Given the description of an element on the screen output the (x, y) to click on. 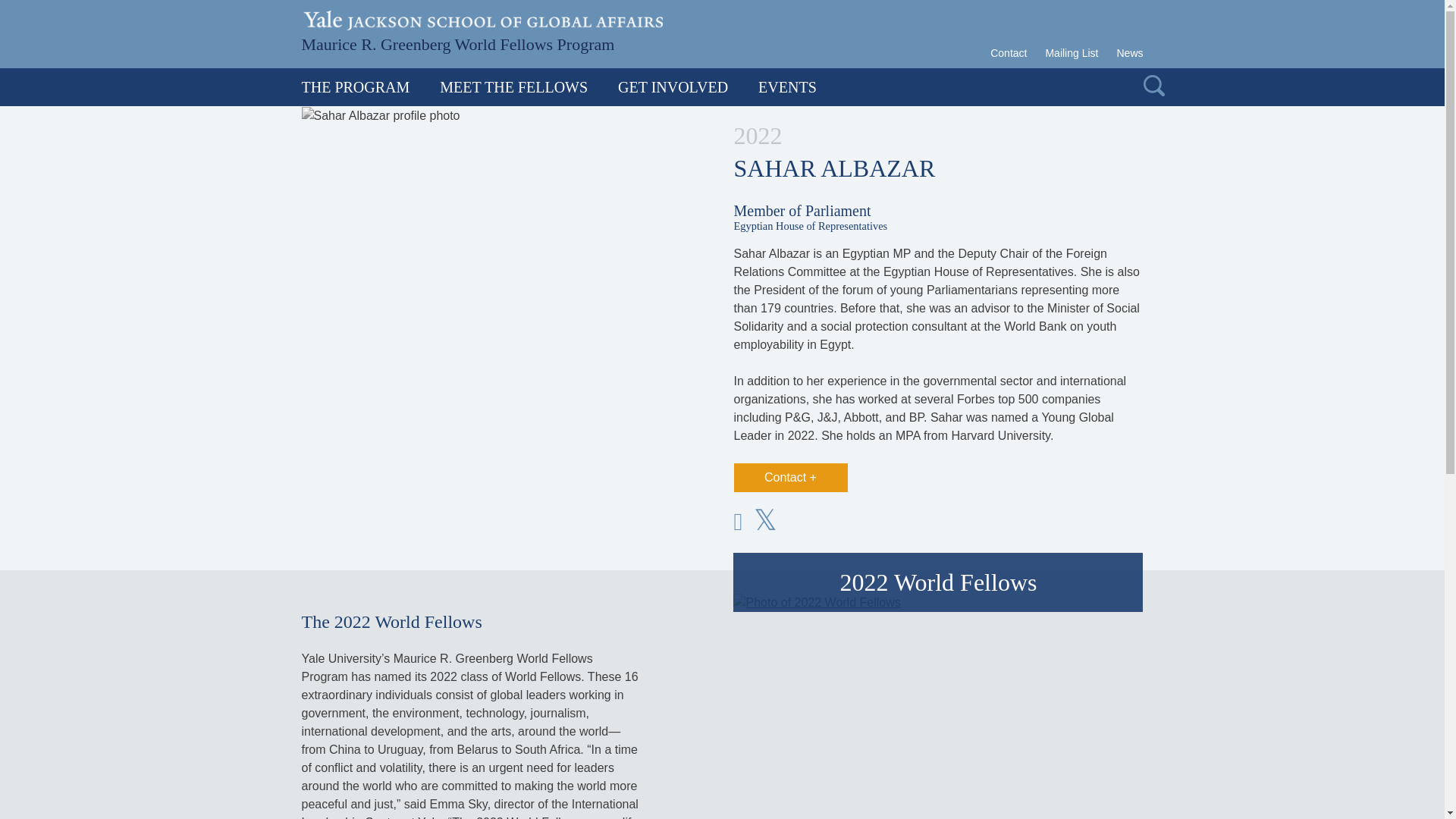
GET INVOLVED (672, 86)
View World Fellows Class of 2022 (816, 601)
MEET THE FELLOWS (513, 86)
World Fellows Logo (457, 42)
Link to Twitter (771, 521)
Contact (1012, 52)
Contact Sahar Albazar (790, 477)
News (1124, 52)
Maurice R. Greenberg World Fellows Program (457, 42)
Mailing List (1070, 52)
